Given the description of an element on the screen output the (x, y) to click on. 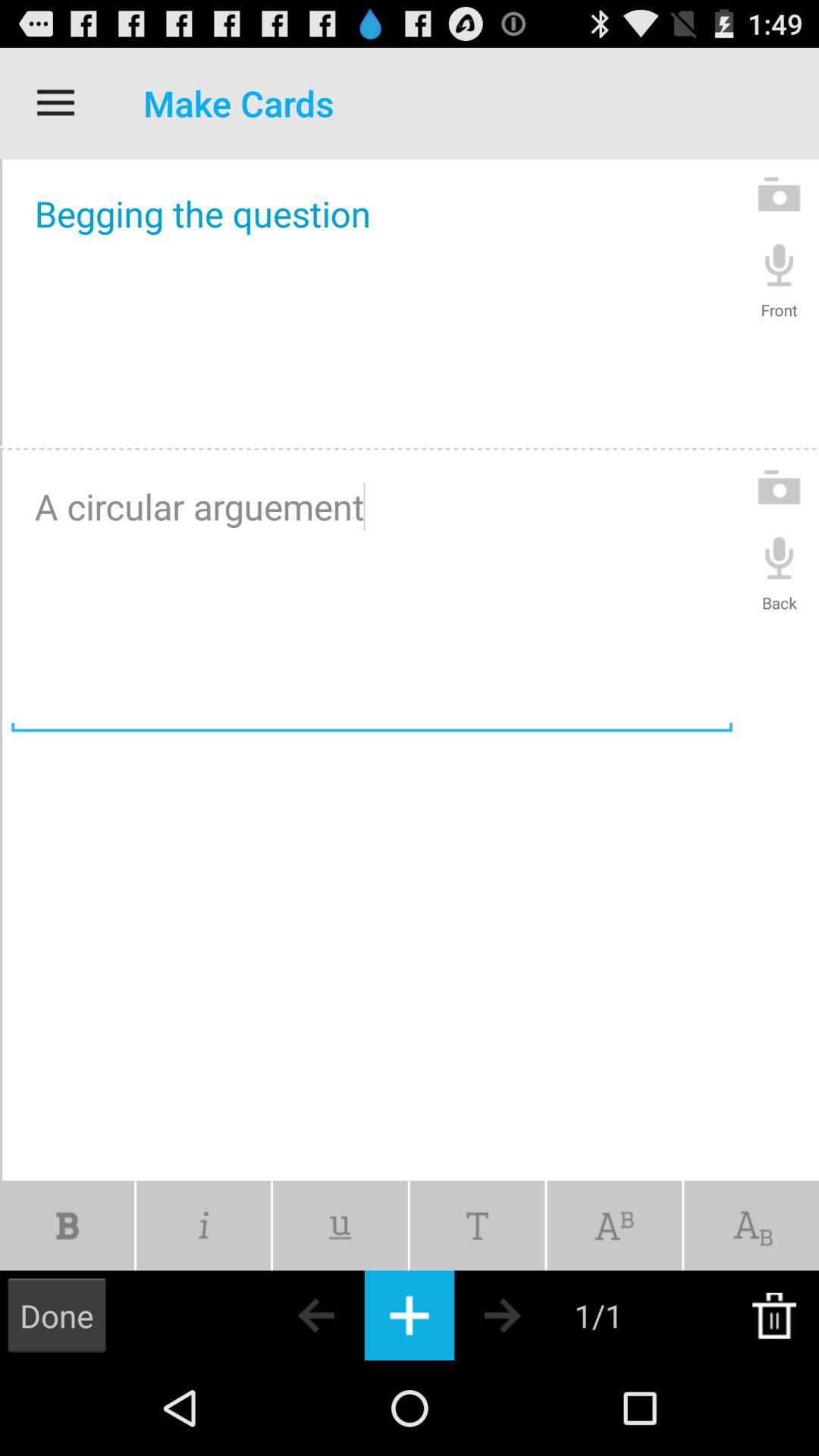
swipe until done item (56, 1315)
